Given the description of an element on the screen output the (x, y) to click on. 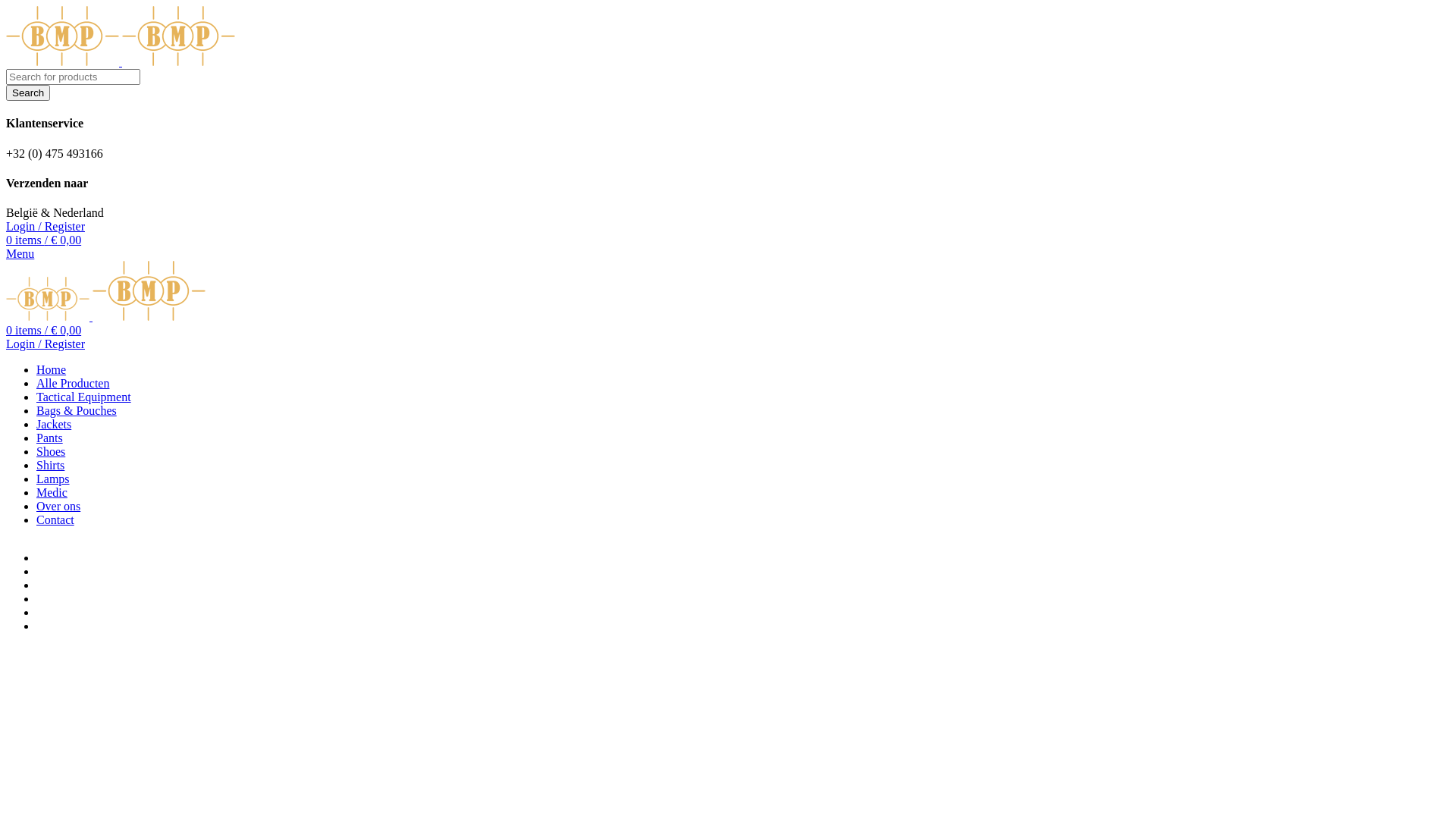
Jackets Element type: text (53, 423)
Pants Element type: text (49, 437)
Home Element type: text (50, 369)
Shirts Element type: text (50, 464)
Bags & Pouches Element type: text (76, 410)
Klantenservice
+32 (0) 475 493166 Element type: text (727, 138)
Login / Register Element type: text (45, 343)
Menu Element type: text (20, 253)
Alle Producten Element type: text (72, 382)
Search Element type: text (28, 92)
Medic Element type: text (51, 492)
Login / Register Element type: text (45, 225)
Contact Element type: text (55, 519)
Tactical Equipment Element type: text (83, 396)
Over ons Element type: text (58, 505)
Shoes Element type: text (50, 451)
Lamps Element type: text (52, 478)
